Given the description of an element on the screen output the (x, y) to click on. 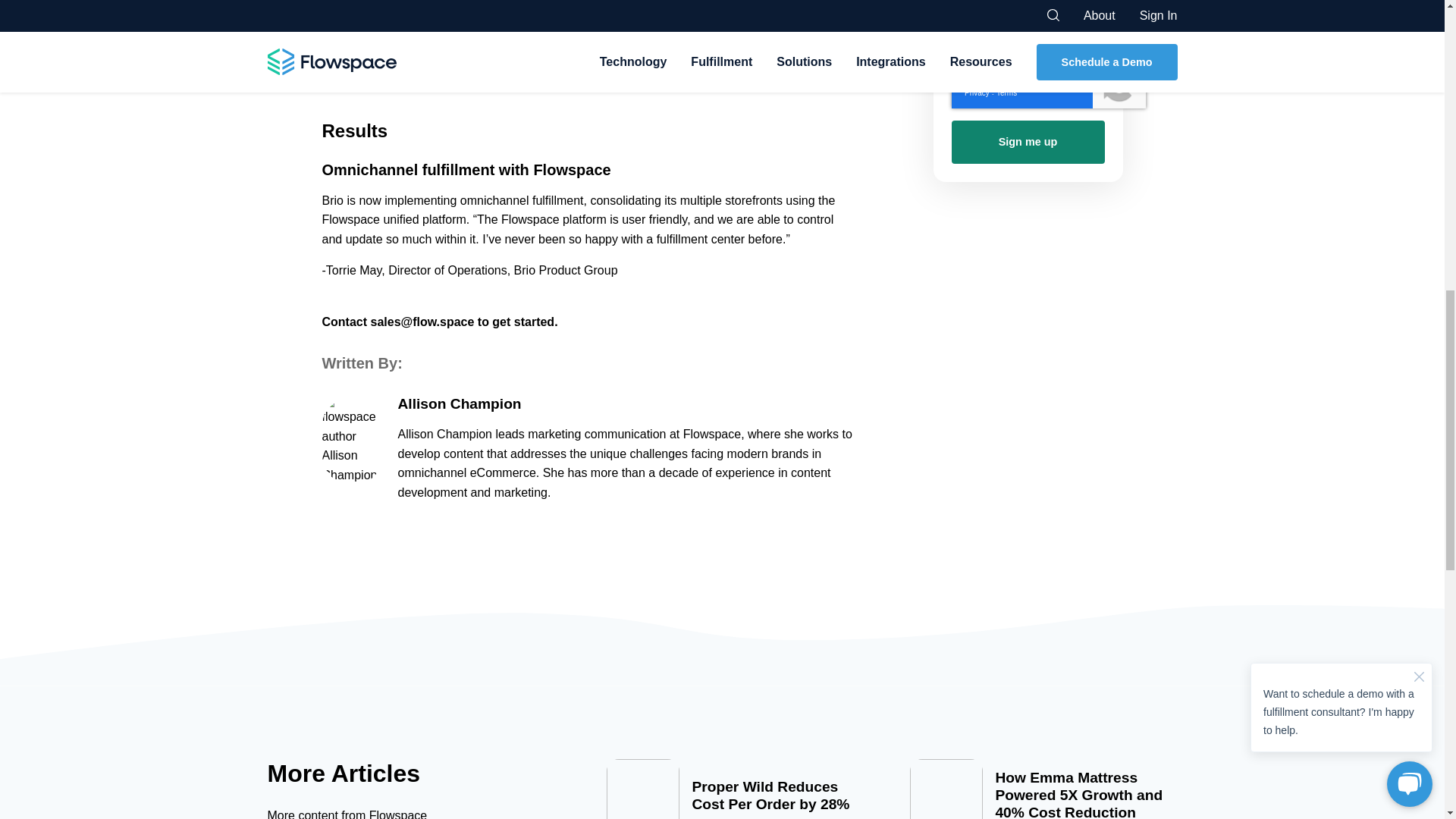
reCAPTCHA (1047, 85)
Sign me up (1026, 141)
